Given the description of an element on the screen output the (x, y) to click on. 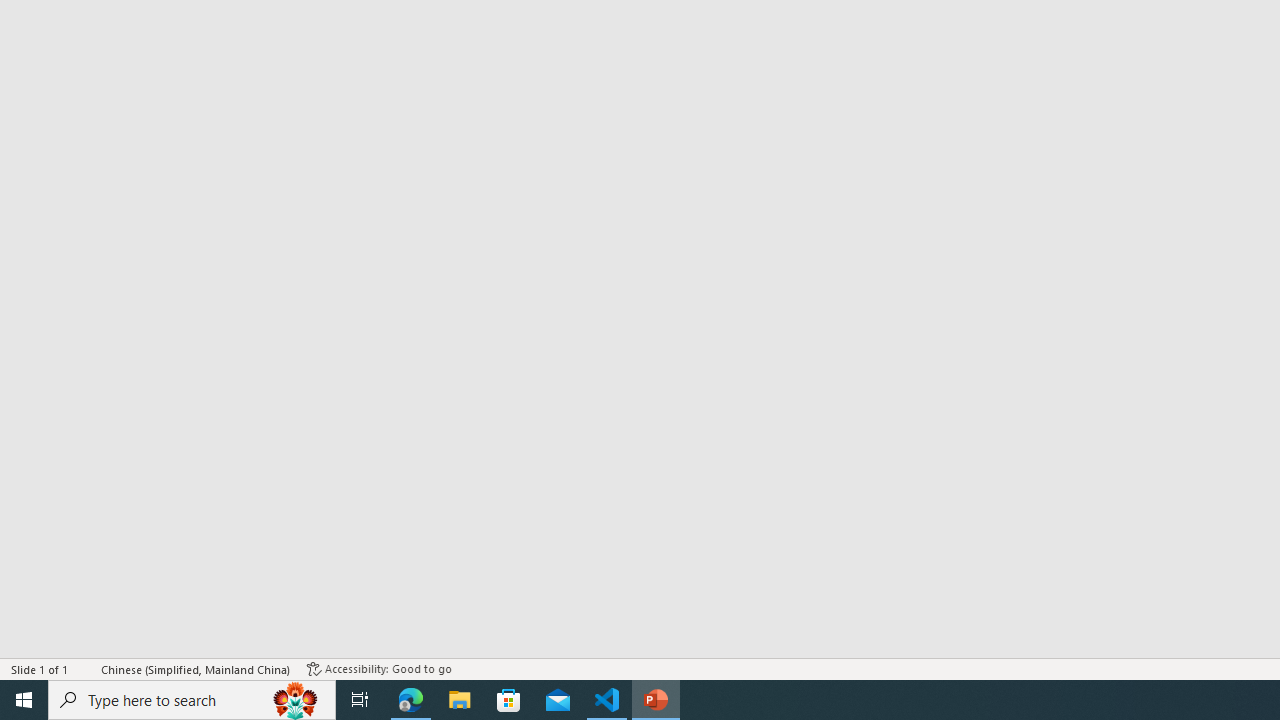
Spell Check  (86, 668)
Accessibility Checker Accessibility: Good to go (379, 668)
